Given the description of an element on the screen output the (x, y) to click on. 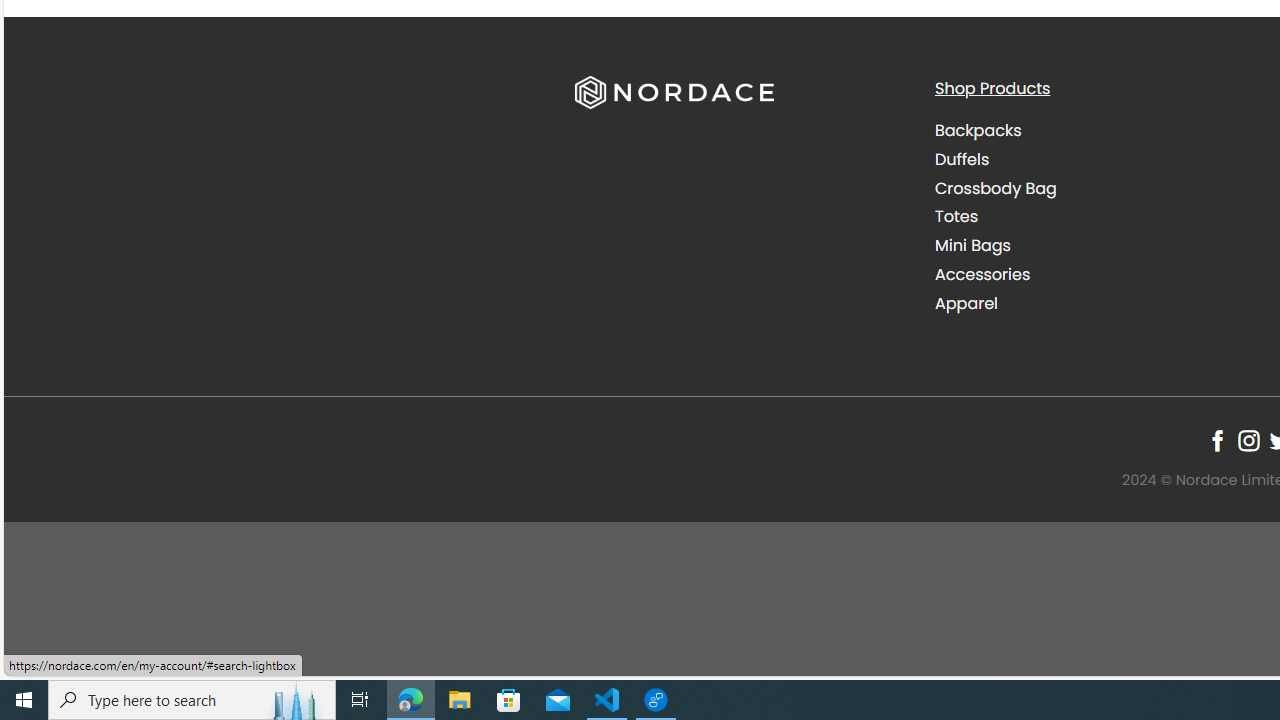
Duffels (961, 158)
